Given the description of an element on the screen output the (x, y) to click on. 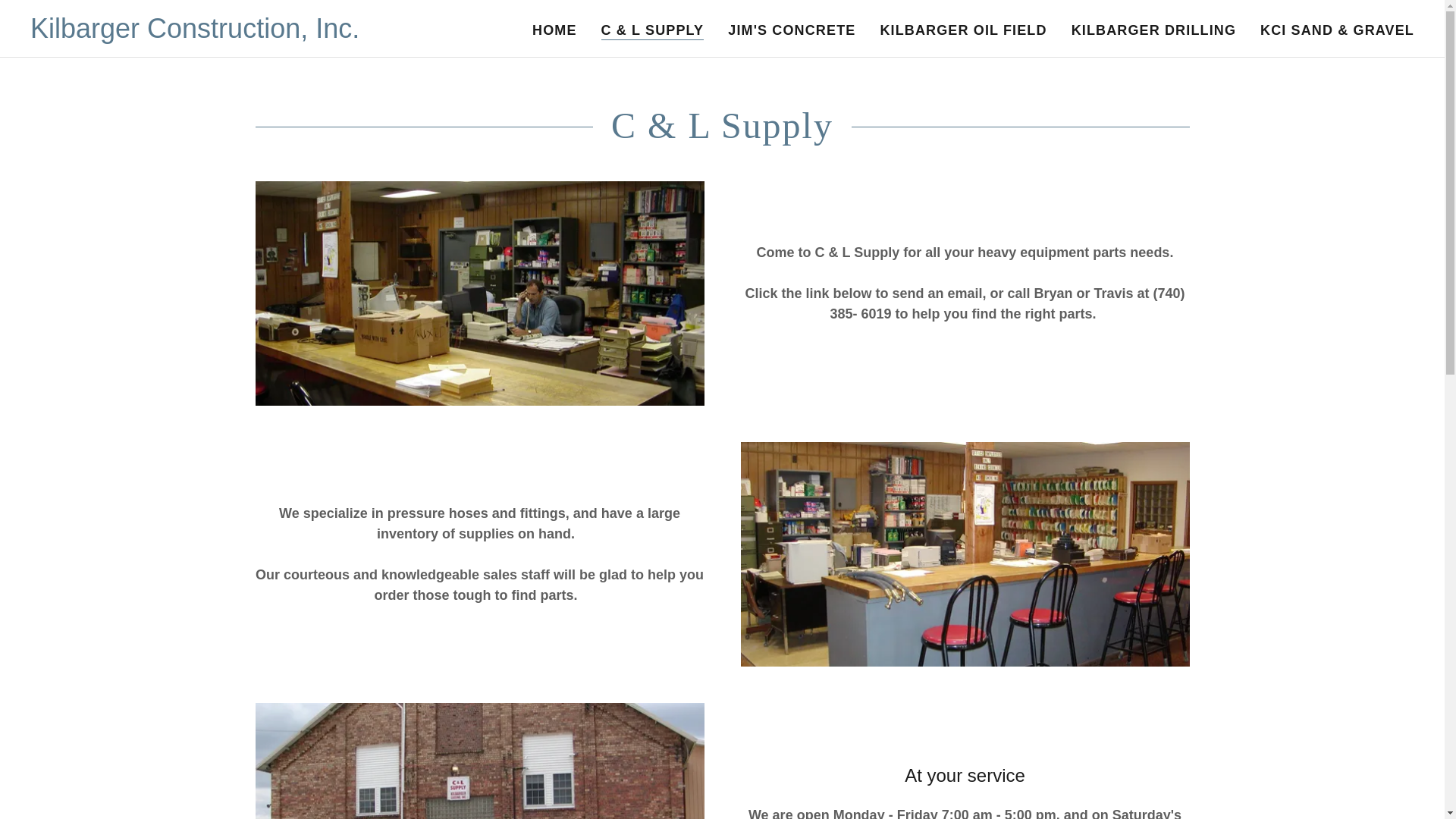
Kilbarger Construction, Inc. (194, 32)
KILBARGER DRILLING (1153, 30)
KILBARGER OIL FIELD (963, 30)
Kilbarger Construction, Inc. (194, 32)
JIM'S CONCRETE (791, 30)
HOME (553, 30)
